Given the description of an element on the screen output the (x, y) to click on. 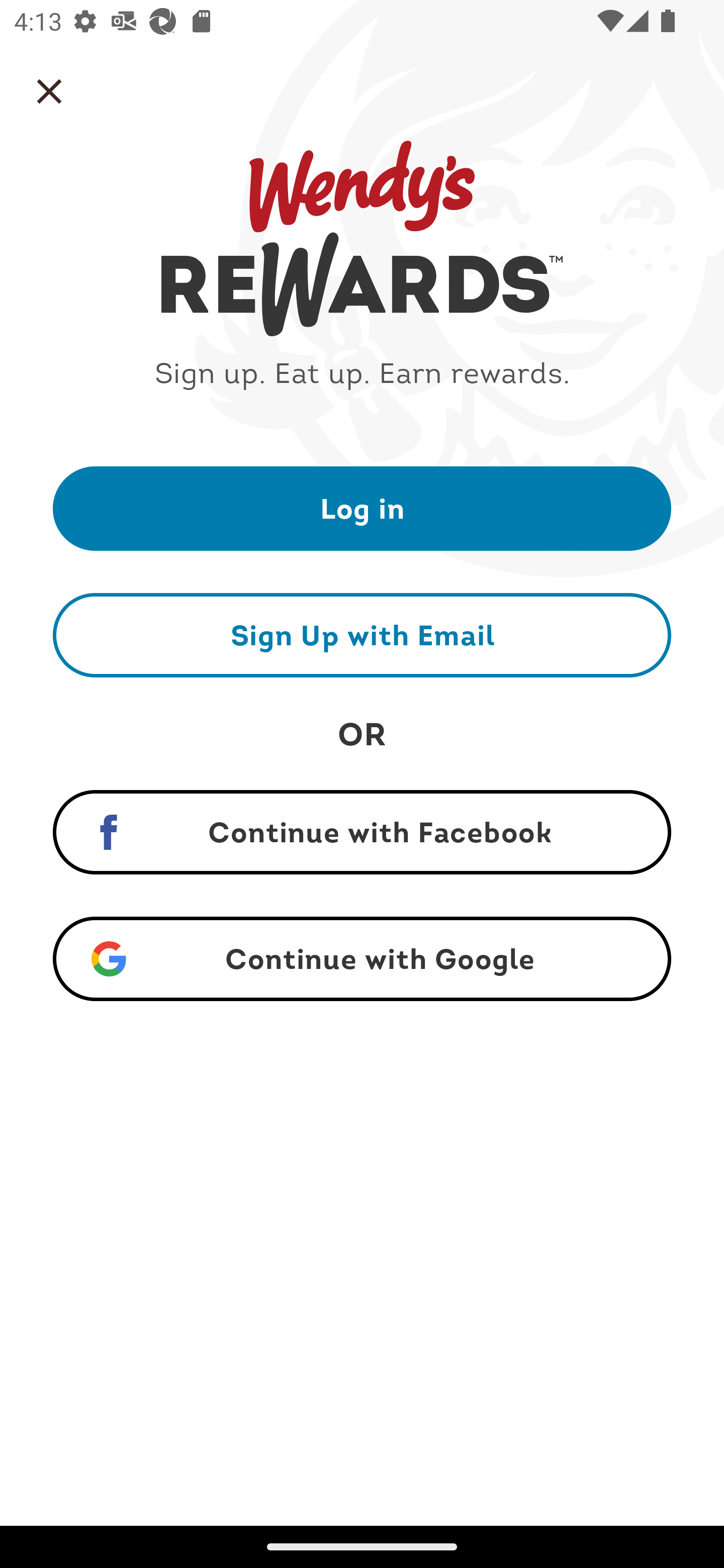
close (49, 91)
Log in (361, 507)
Sign Up with Email (361, 634)
Continue with Facebook (361, 832)
Continue with Google (361, 958)
